Given the description of an element on the screen output the (x, y) to click on. 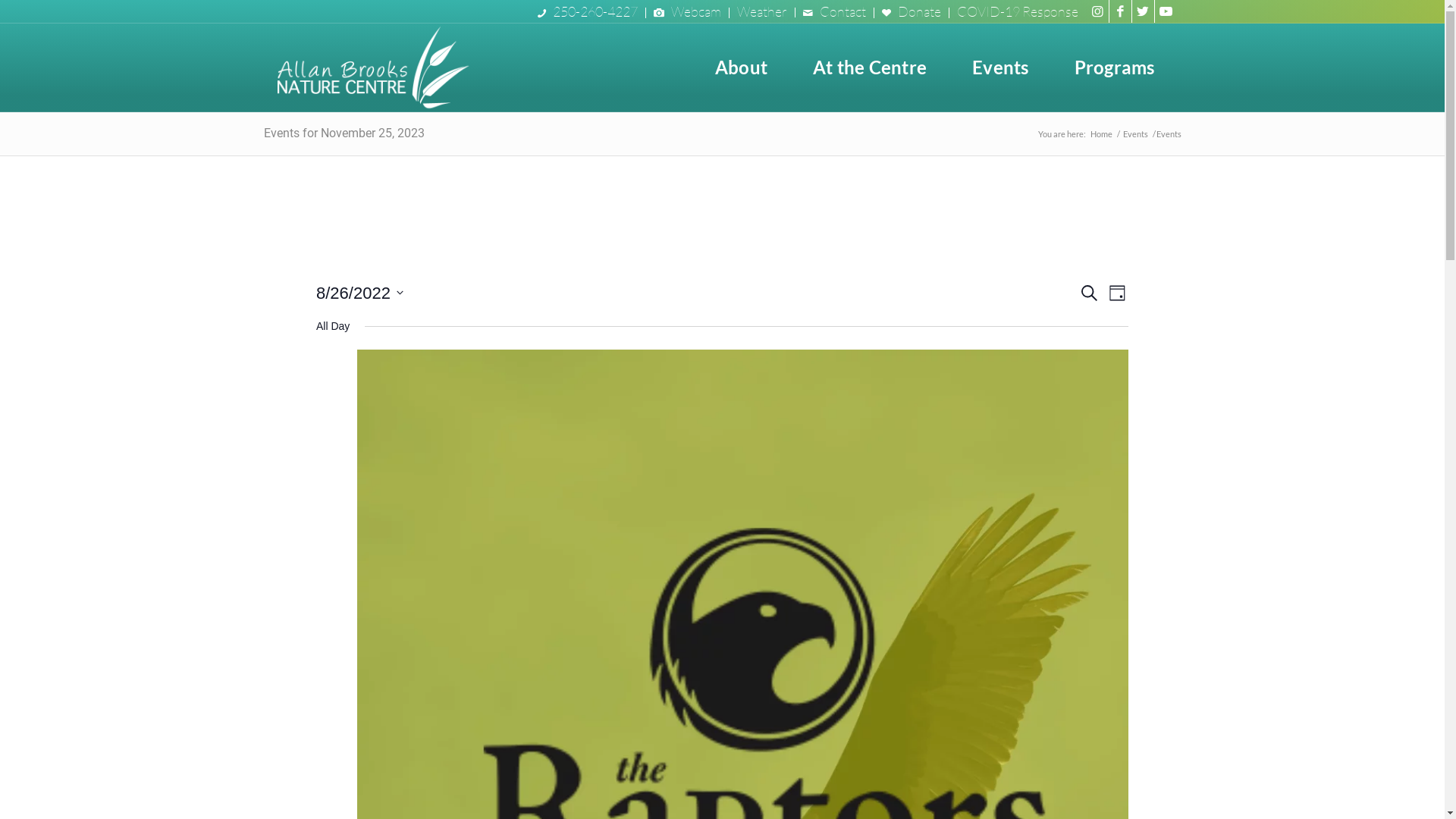
Programs Element type: text (1114, 67)
Events Element type: text (1135, 133)
Twitter Element type: hover (1142, 11)
Youtube Element type: hover (1165, 11)
Instagram Element type: hover (1096, 11)
Day Element type: text (1117, 293)
Facebook Element type: hover (1119, 11)
At the Centre Element type: text (869, 67)
8/26/2022 Element type: text (359, 292)
Search Element type: text (1089, 293)
About Element type: text (741, 67)
Home Element type: text (1100, 133)
Events Element type: text (1000, 67)
